Given the description of an element on the screen output the (x, y) to click on. 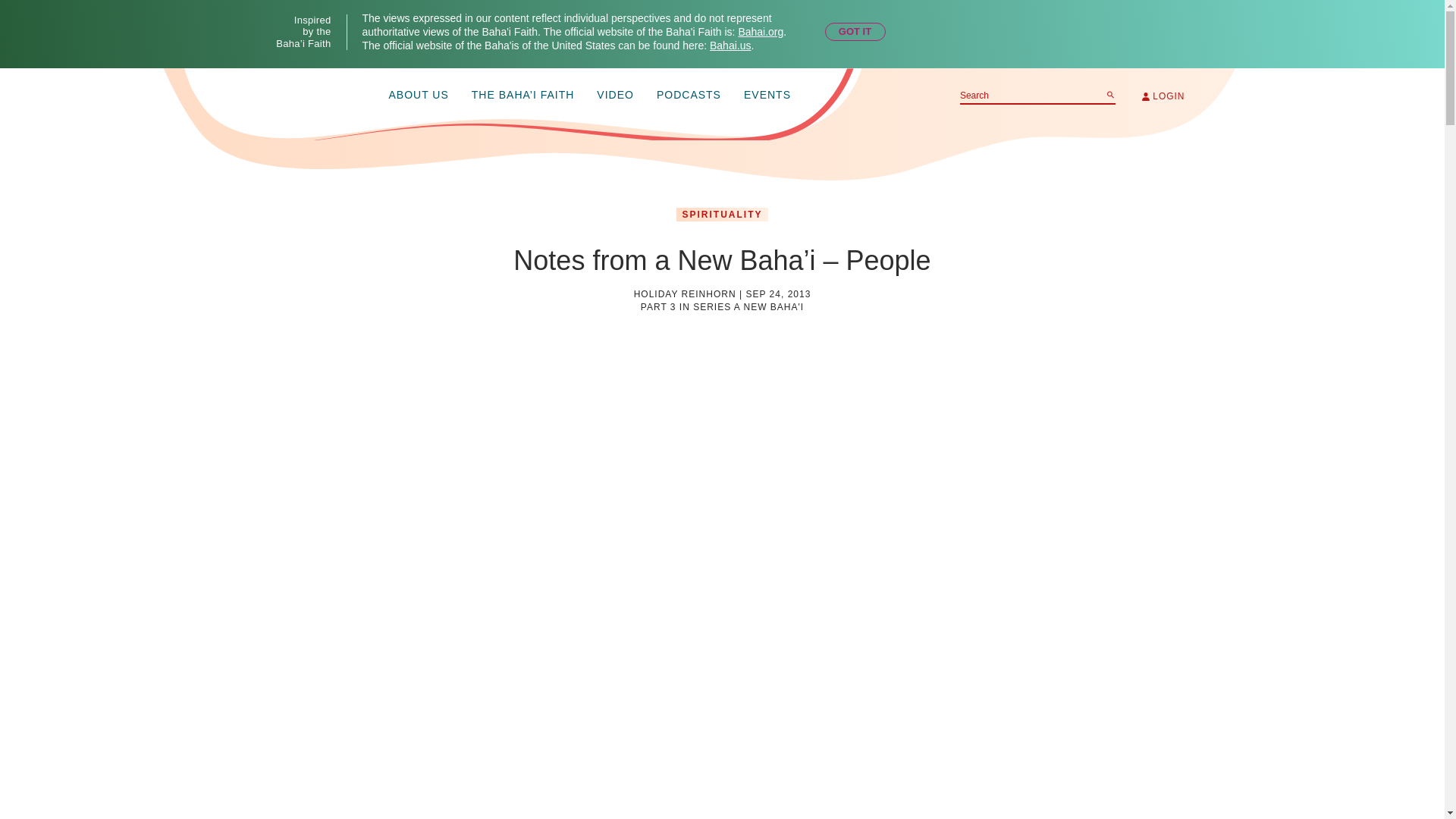
PODCASTS (688, 96)
Search for: (1037, 95)
A NEW BAHA'I (768, 307)
Bahai.org (760, 31)
VIDEO (614, 96)
EVENTS (767, 96)
Bahai.us (730, 45)
ABOUT US (418, 96)
Search (1110, 94)
SPIRITUALITY (722, 214)
LOGIN (1163, 95)
GOT IT (855, 31)
